Given the description of an element on the screen output the (x, y) to click on. 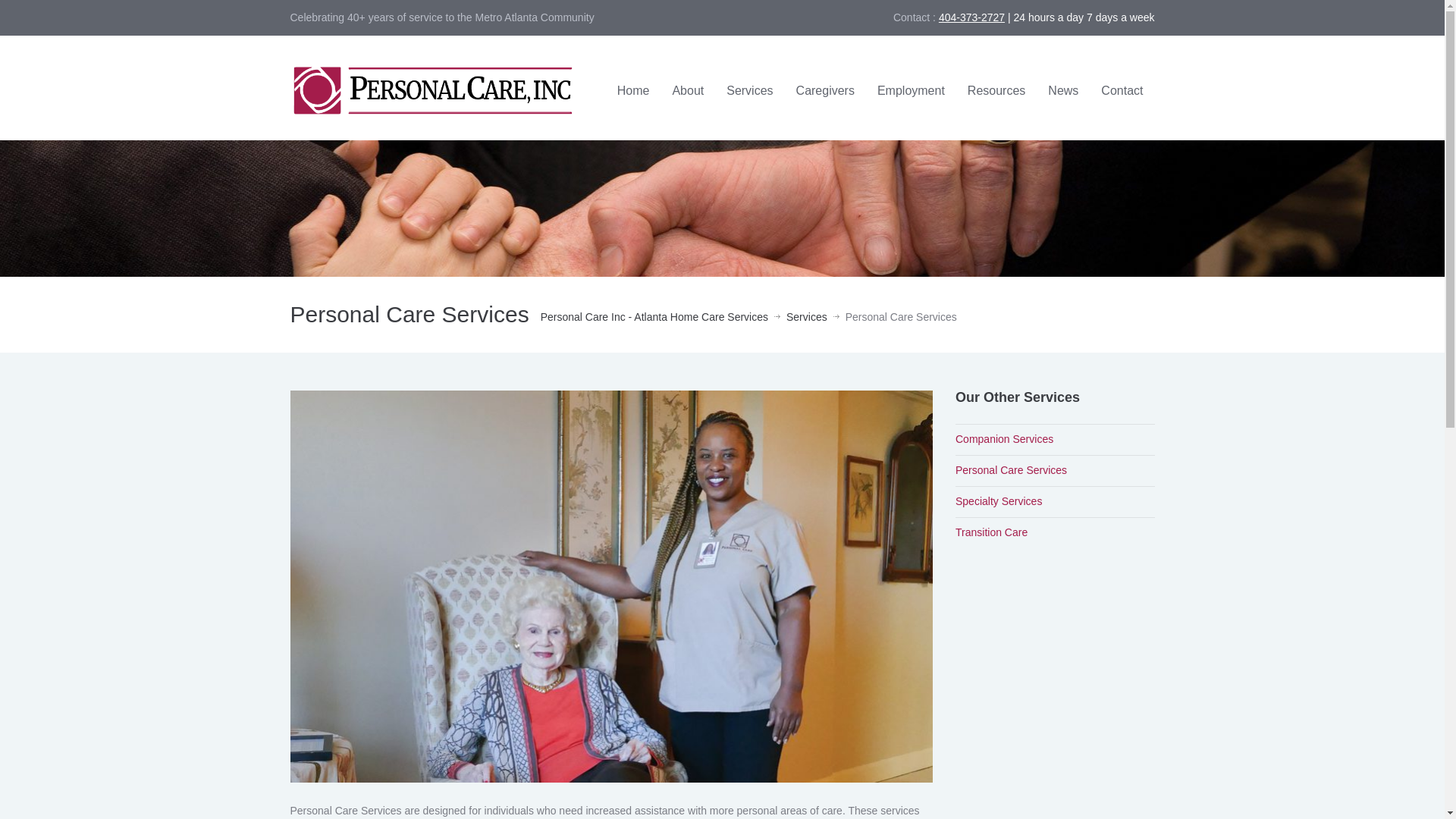
Transition Care (991, 532)
Companion Services (1003, 439)
About (687, 91)
Specialty Services (998, 500)
Personal Care Services (611, 585)
404-373-2727 (971, 17)
Caregivers (825, 91)
Services (806, 317)
Services (749, 91)
Home (633, 91)
News (1062, 91)
Contact (1121, 91)
Personal Care Inc - Atlanta Home Care Services (654, 317)
Employment (911, 91)
Resources (996, 91)
